Given the description of an element on the screen output the (x, y) to click on. 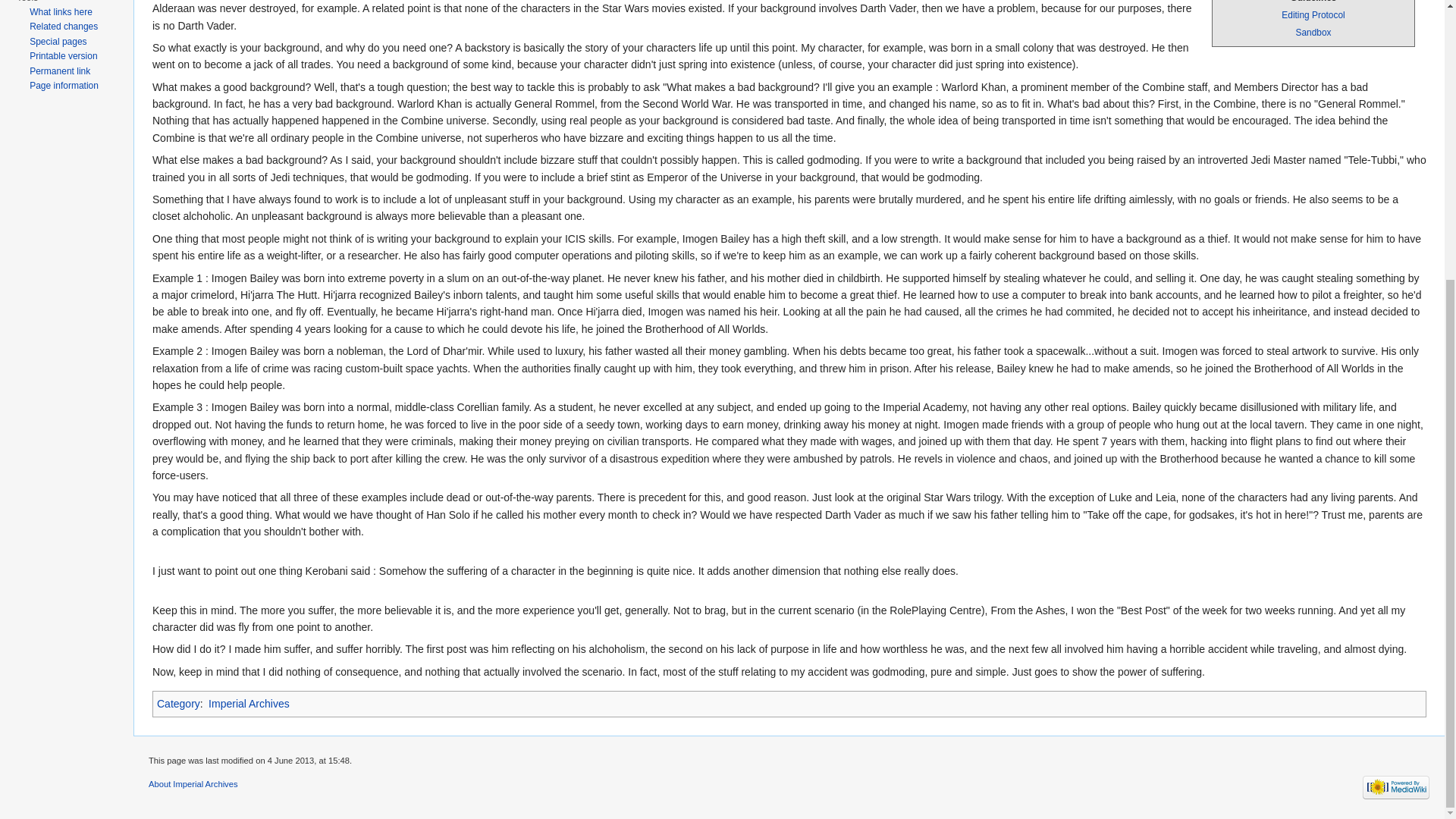
Sandbox (1313, 32)
Editing Protocol (1312, 14)
Imperial Archives (248, 703)
Category (178, 703)
What links here (61, 10)
Category:Imperial Archives (248, 703)
Sandbox (1313, 32)
Special:Categories (178, 703)
Editing Protocol (1312, 14)
Related changes (63, 26)
